Given the description of an element on the screen output the (x, y) to click on. 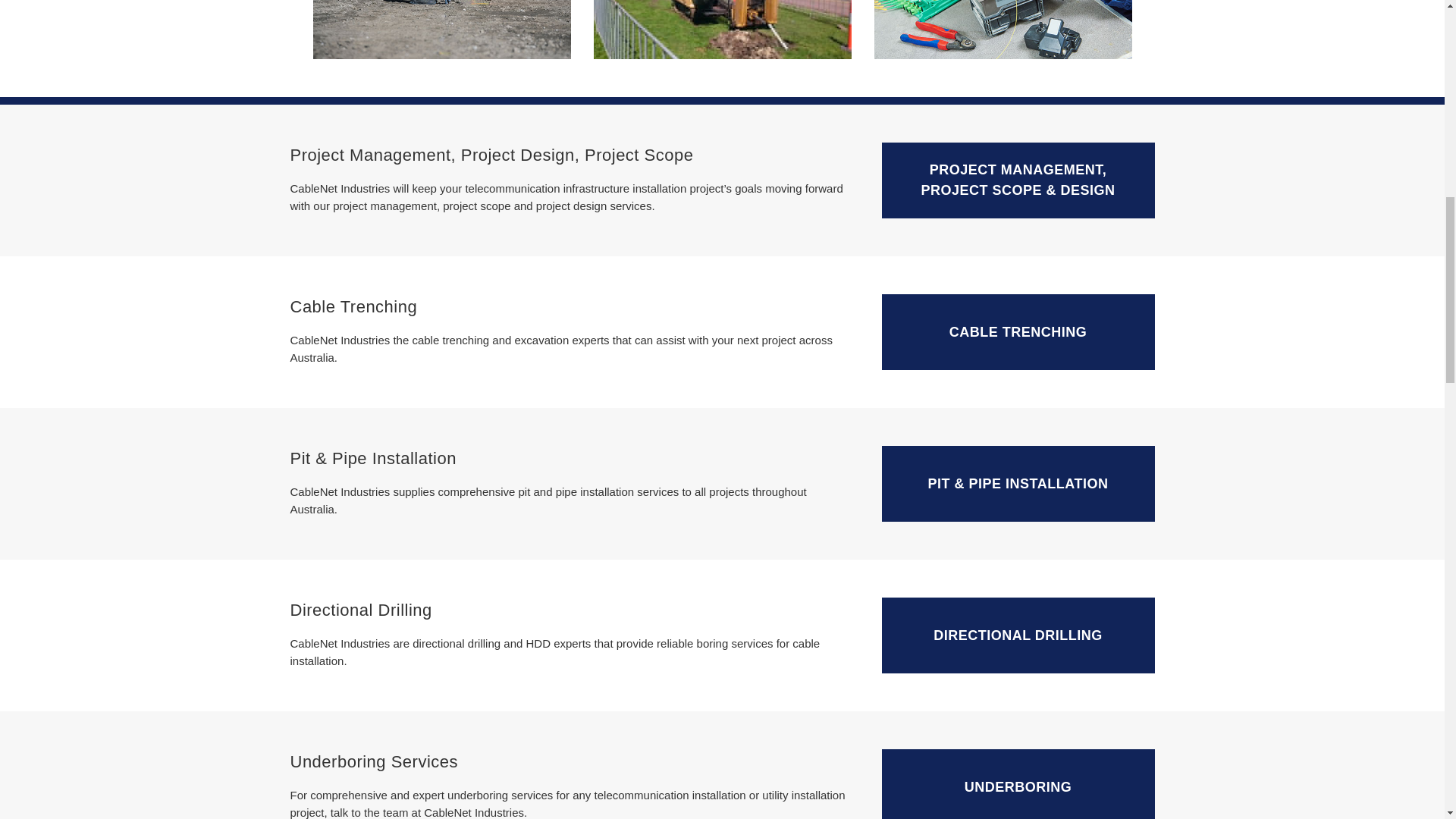
UNDERBORING (1017, 784)
DIRECTIONAL DRILLING (1017, 635)
CABLE TRENCHING (1017, 332)
